Given the description of an element on the screen output the (x, y) to click on. 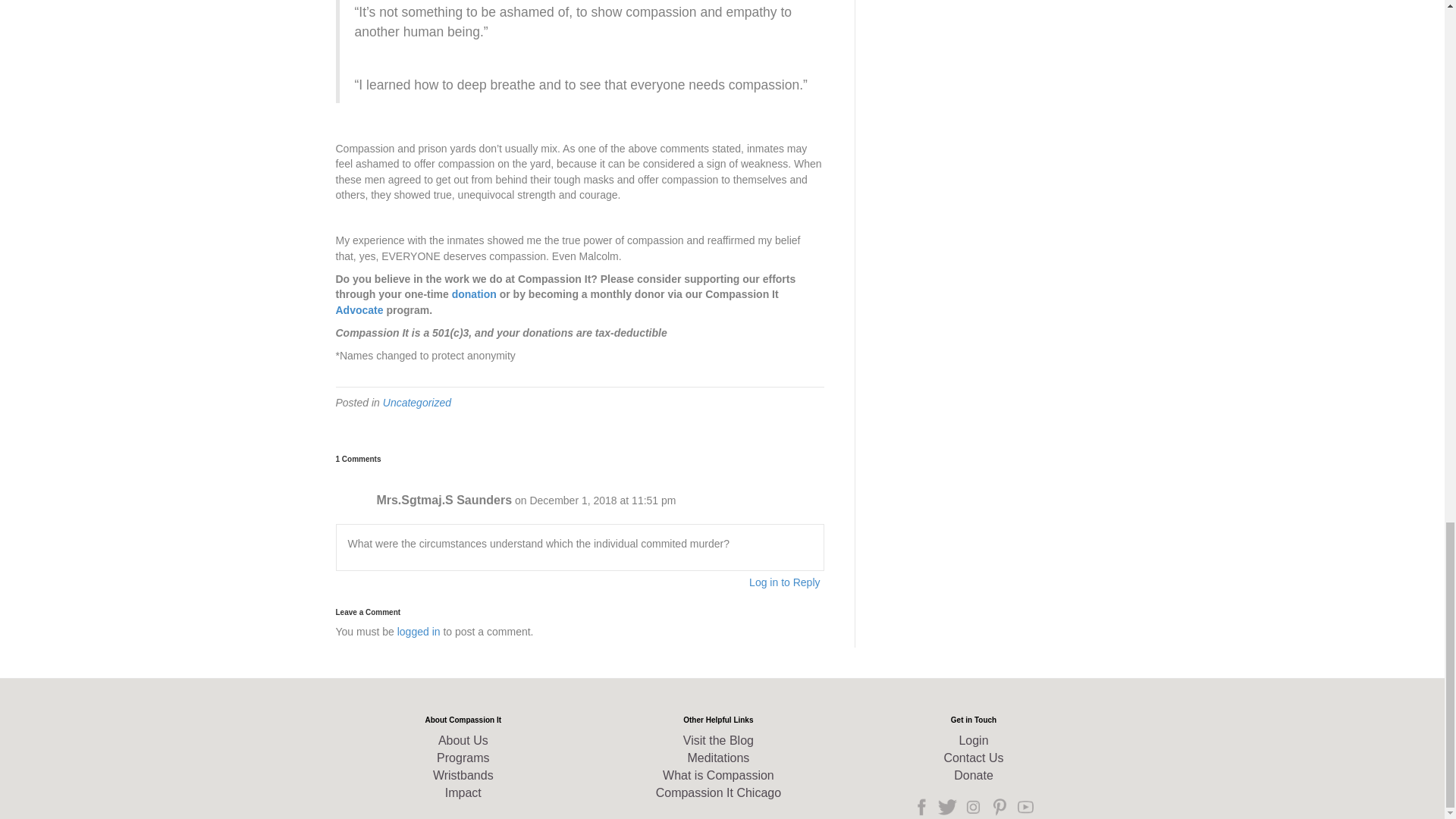
Log in to Reply (784, 582)
donation (473, 294)
Uncategorized (416, 402)
Advocate (358, 309)
logged in (419, 631)
